Given the description of an element on the screen output the (x, y) to click on. 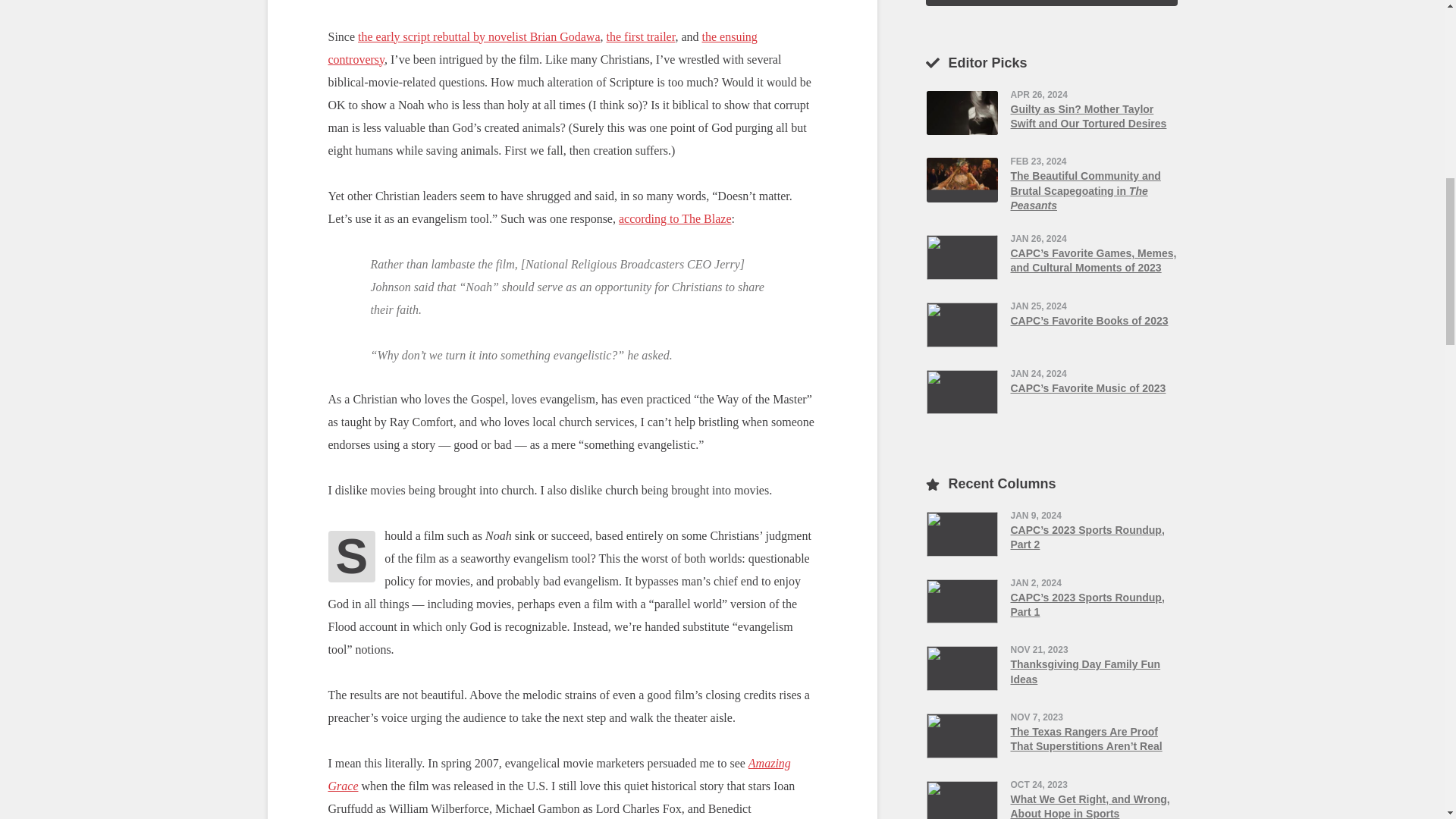
according to The Blaze (675, 218)
the first trailer (641, 36)
the early script rebuttal by novelist Brian Godawa (478, 36)
the ensuing controversy (542, 48)
Amazing Grace (558, 774)
